Given the description of an element on the screen output the (x, y) to click on. 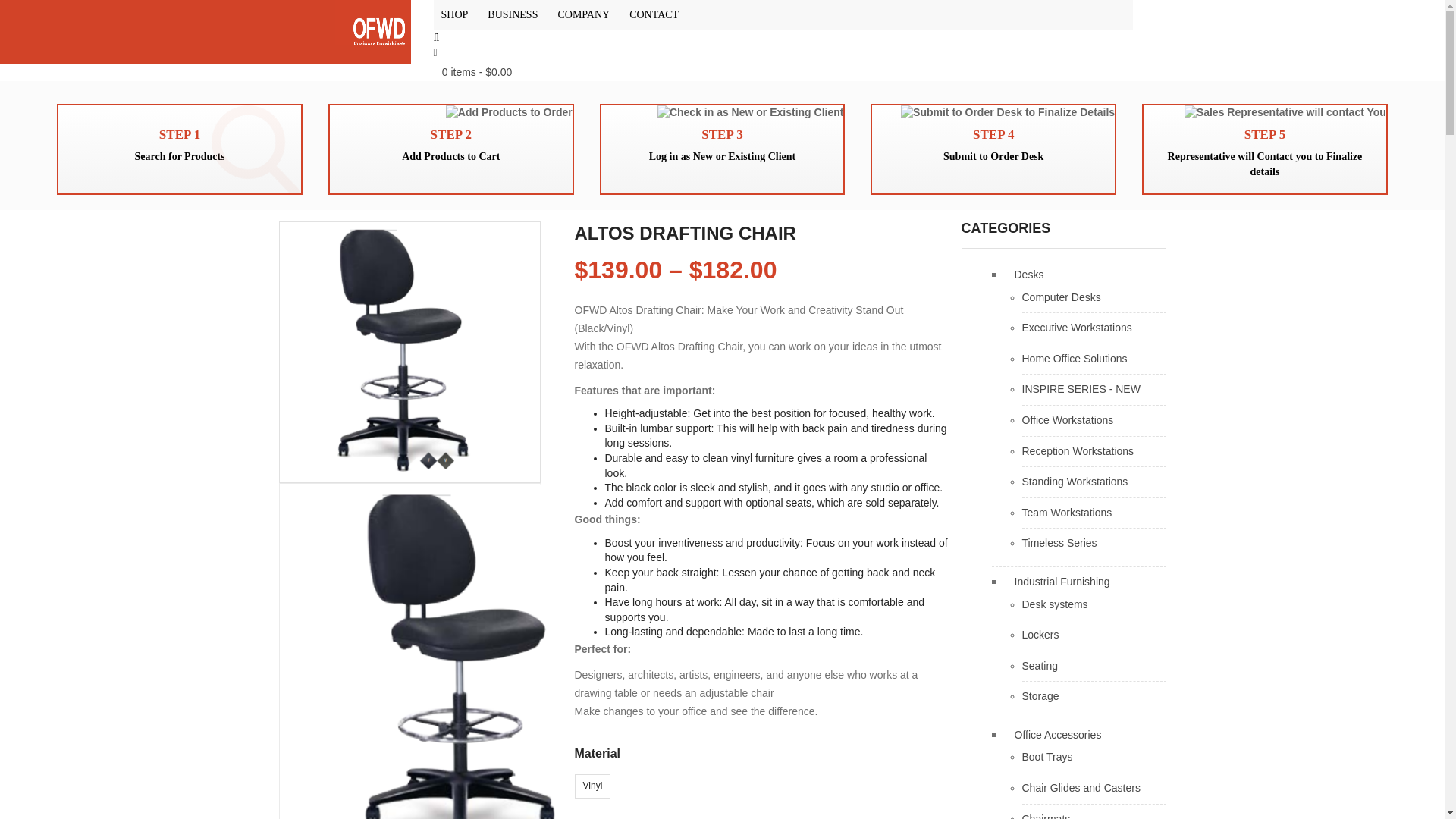
altos-drafting-chair.png (469, 651)
altos-drafting-chair.png (408, 351)
SHOP (456, 15)
